Given the description of an element on the screen output the (x, y) to click on. 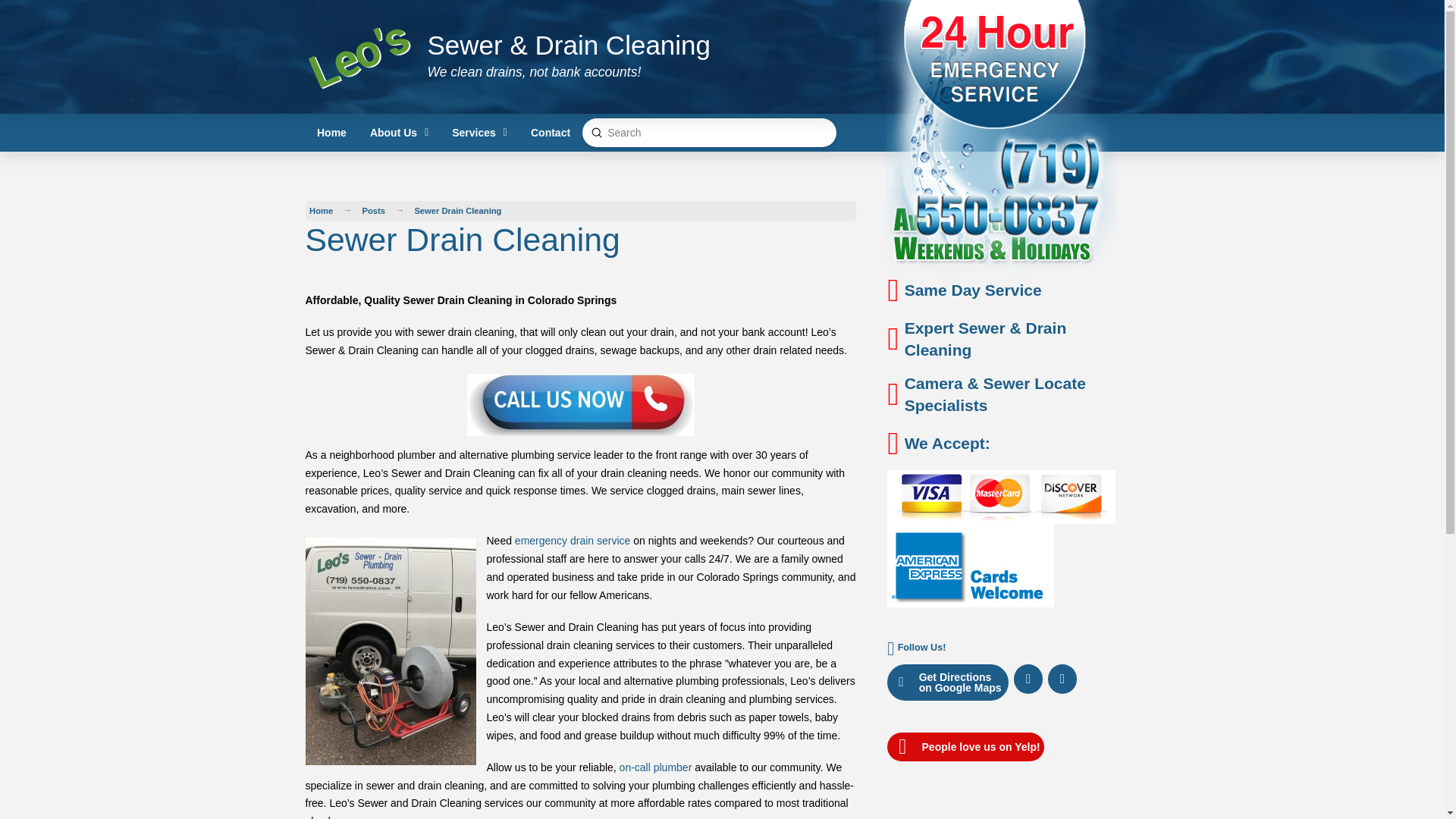
Get Directions on Google Maps (947, 682)
Services (480, 132)
Sewer Drain Cleaning (457, 210)
emergency drain service (572, 540)
You Are Here (457, 210)
About Us (398, 132)
on-call plumber (656, 767)
Contact (549, 132)
Posts (374, 210)
Submit (596, 132)
